Given the description of an element on the screen output the (x, y) to click on. 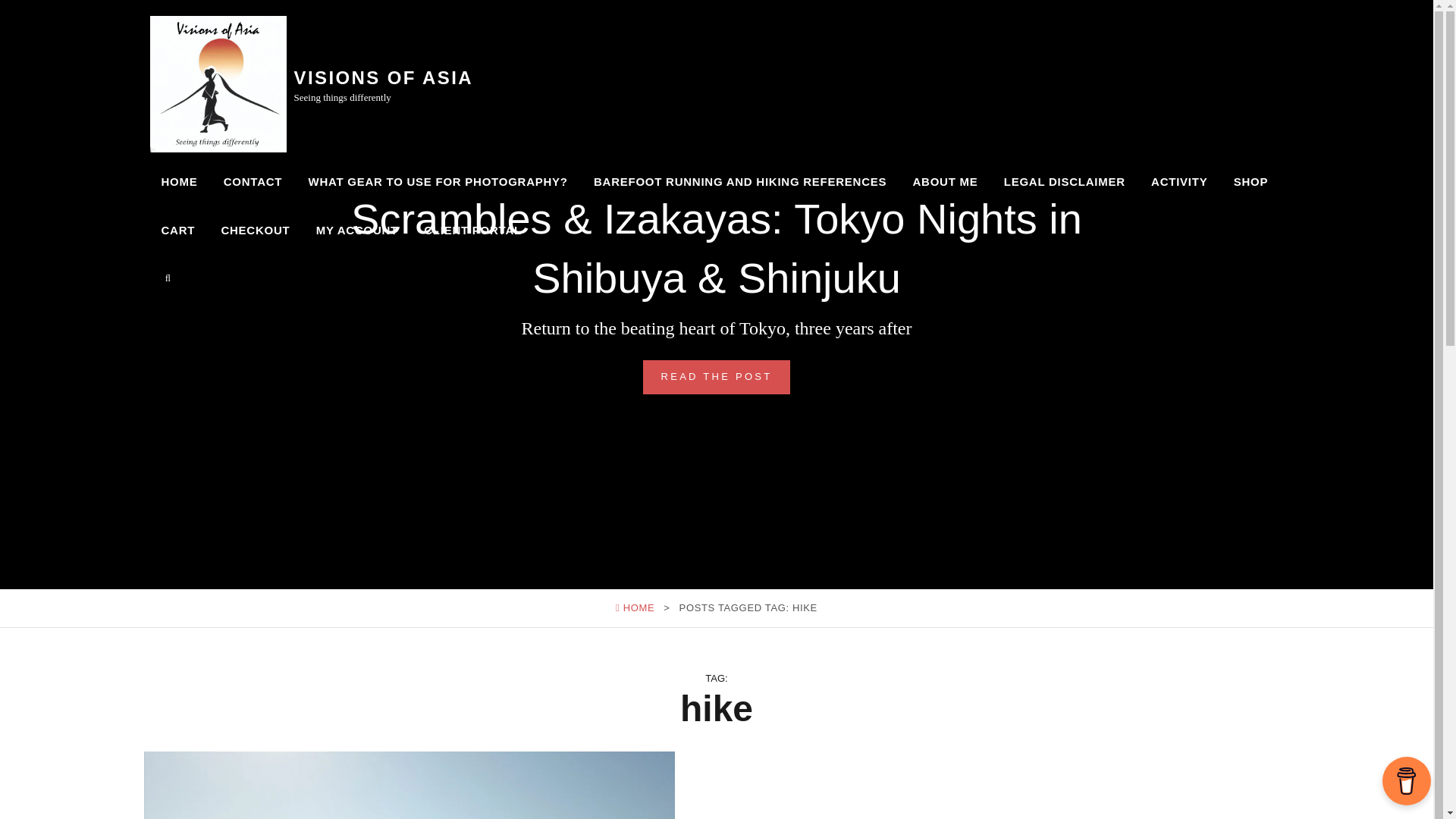
CHECKOUT (255, 230)
HOME (179, 182)
MY ACCOUNT (356, 230)
CONTACT (253, 182)
SHOP (1251, 182)
LEGAL DISCLAIMER (1064, 182)
HOME (634, 607)
ABOUT ME (945, 182)
WHAT GEAR TO USE FOR PHOTOGRAPHY? (437, 182)
BAREFOOT RUNNING AND HIKING REFERENCES (740, 182)
CART (177, 230)
ACTIVITY (1179, 182)
CLIENT PORTAL (472, 230)
VISIONS OF ASIA (383, 77)
